Given the description of an element on the screen output the (x, y) to click on. 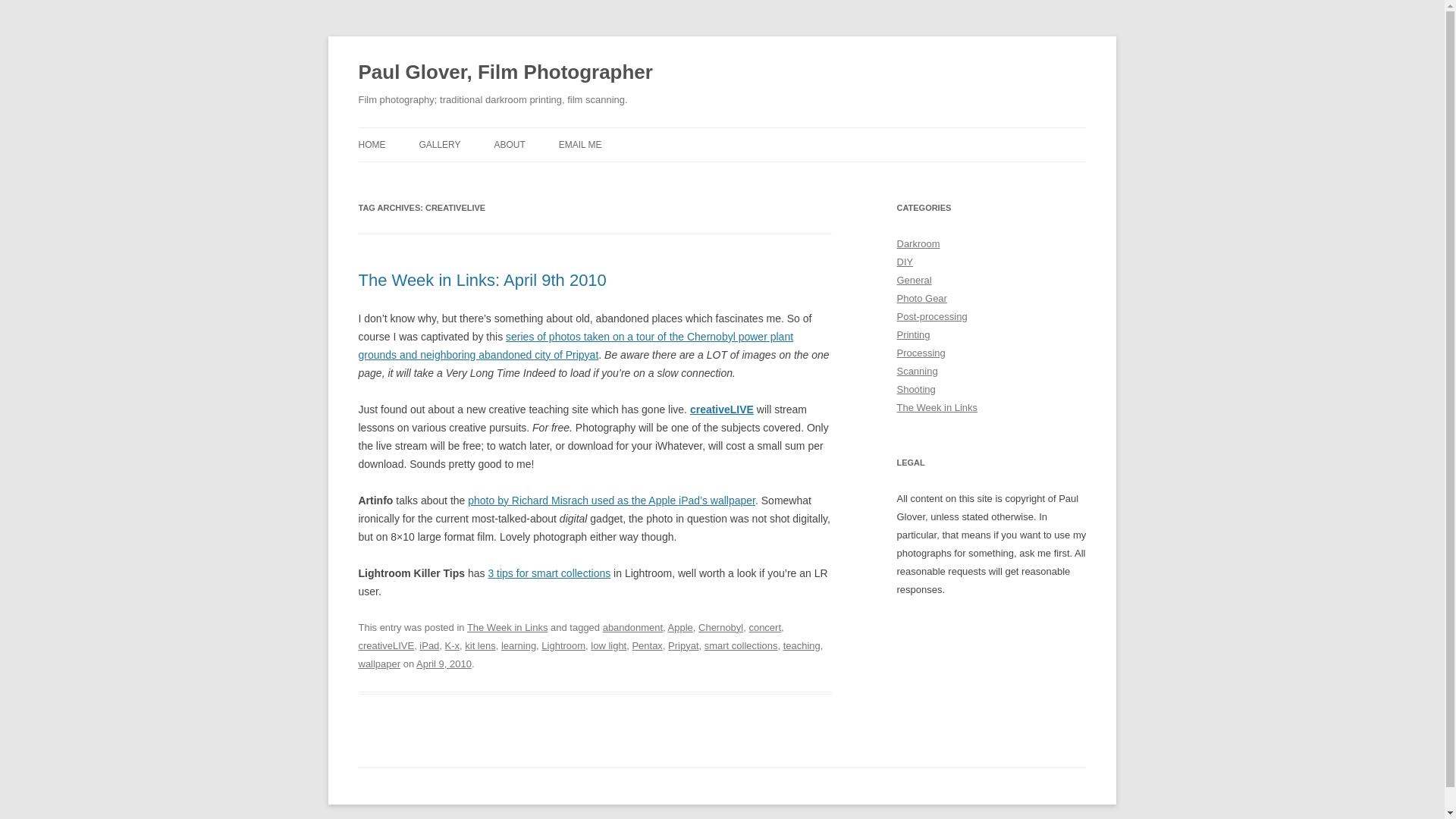
Shooting (915, 389)
Processing (920, 352)
kit lens (479, 645)
Chernobyl (720, 627)
abandonment (632, 627)
EMAIL ME (580, 144)
creativeLIVE (385, 645)
iPad (429, 645)
Pentax (646, 645)
